Given the description of an element on the screen output the (x, y) to click on. 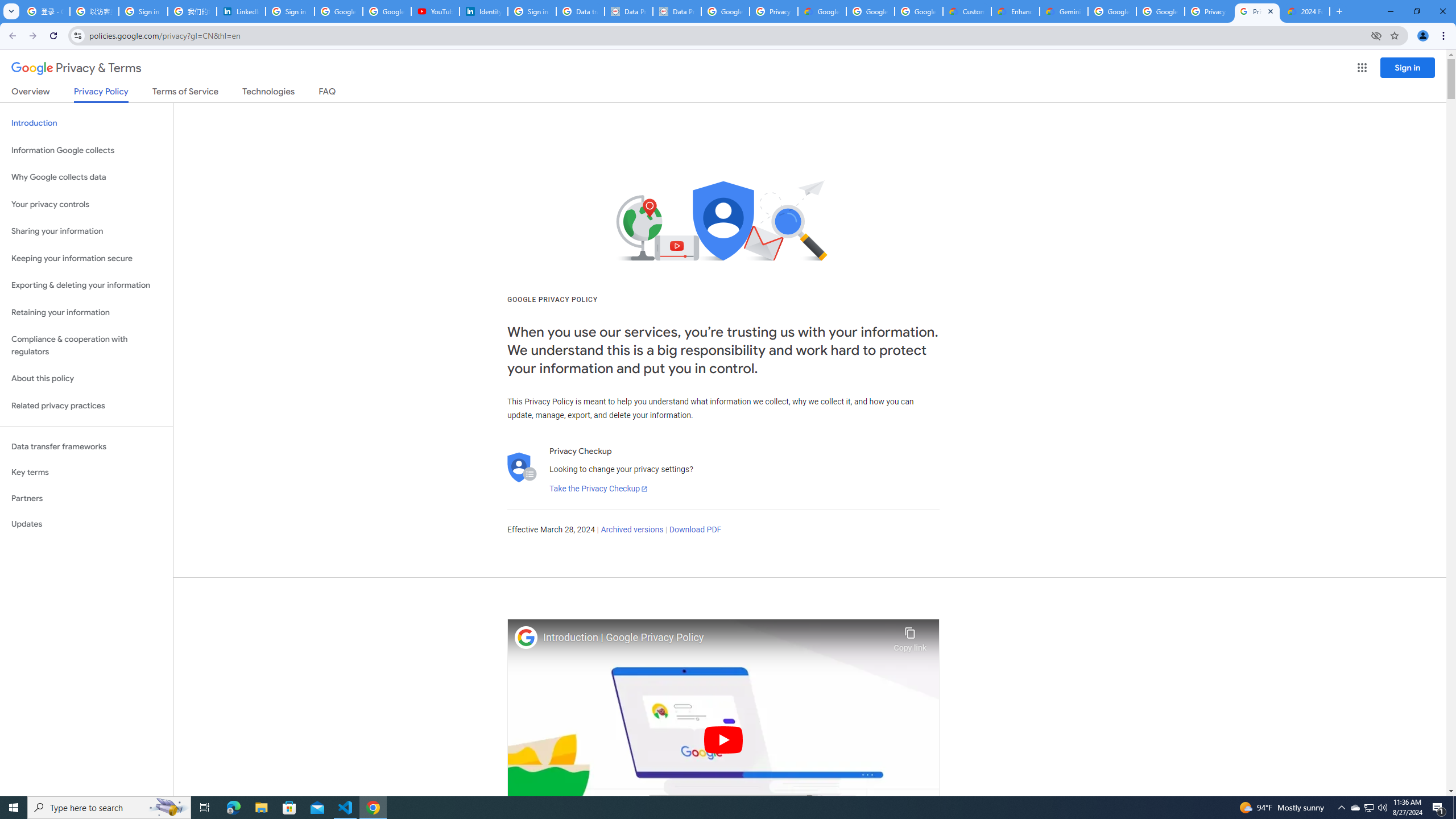
Related privacy practices (86, 405)
Sharing your information (86, 230)
Sign in - Google Accounts (143, 11)
Play (723, 739)
